Given the description of an element on the screen output the (x, y) to click on. 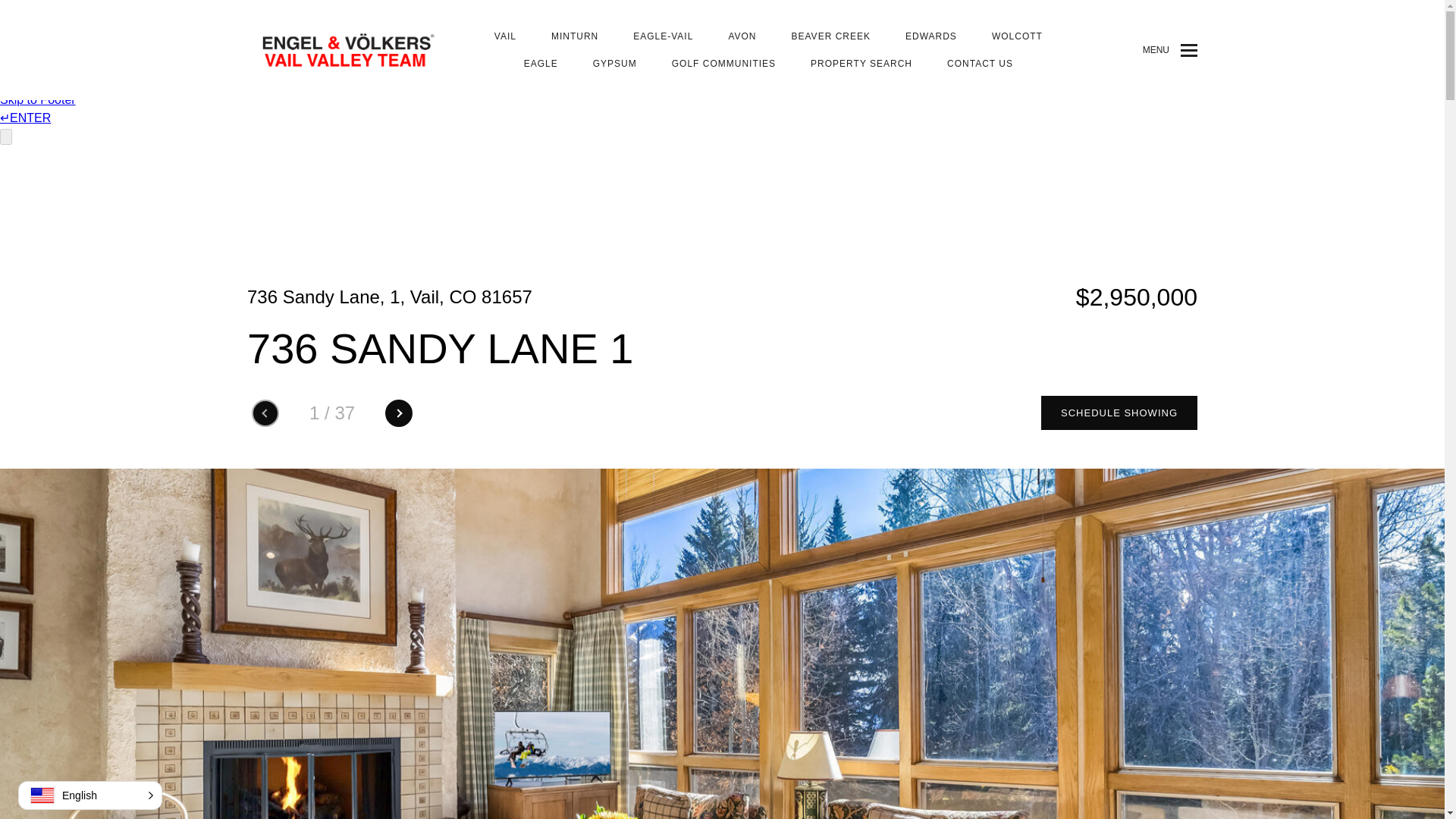
AVON (741, 35)
GOLF COMMUNITIES (723, 62)
WOLCOTT (1016, 35)
BEAVER CREEK (831, 35)
EDWARDS (930, 35)
EAGLE (540, 62)
PROPERTY SEARCH (861, 62)
MINTURN (574, 35)
GYPSUM (614, 62)
VAIL (505, 35)
EAGLE-VAIL (663, 35)
